Given the description of an element on the screen output the (x, y) to click on. 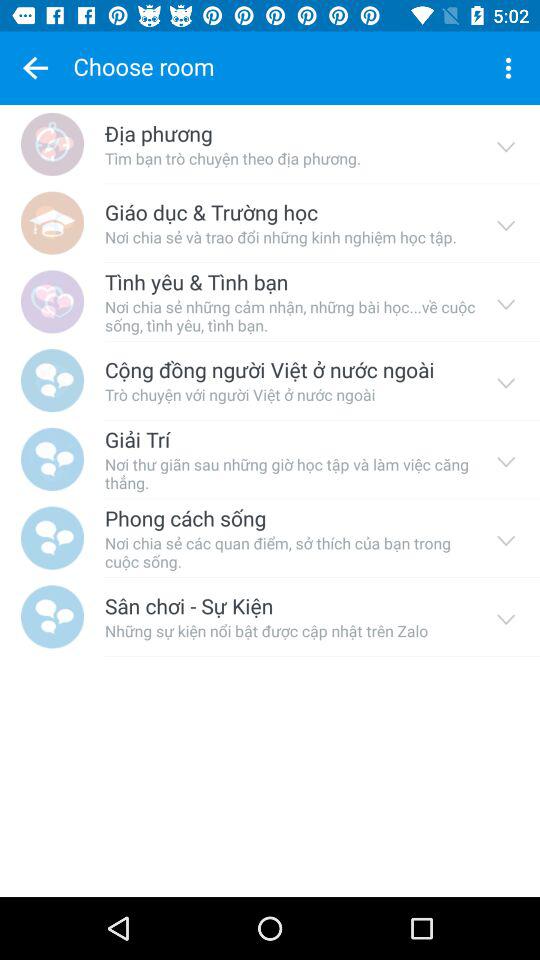
tap the item next to the choose room item (35, 68)
